Given the description of an element on the screen output the (x, y) to click on. 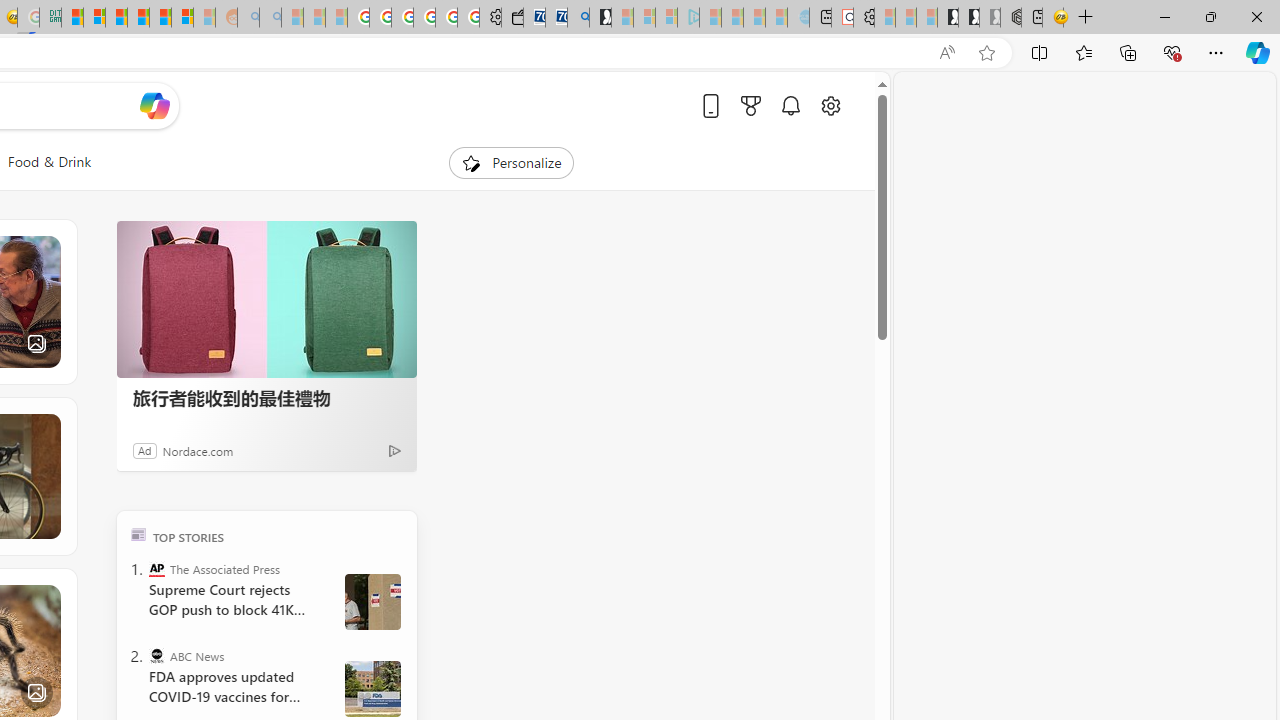
Wallet (512, 17)
